Given the description of an element on the screen output the (x, y) to click on. 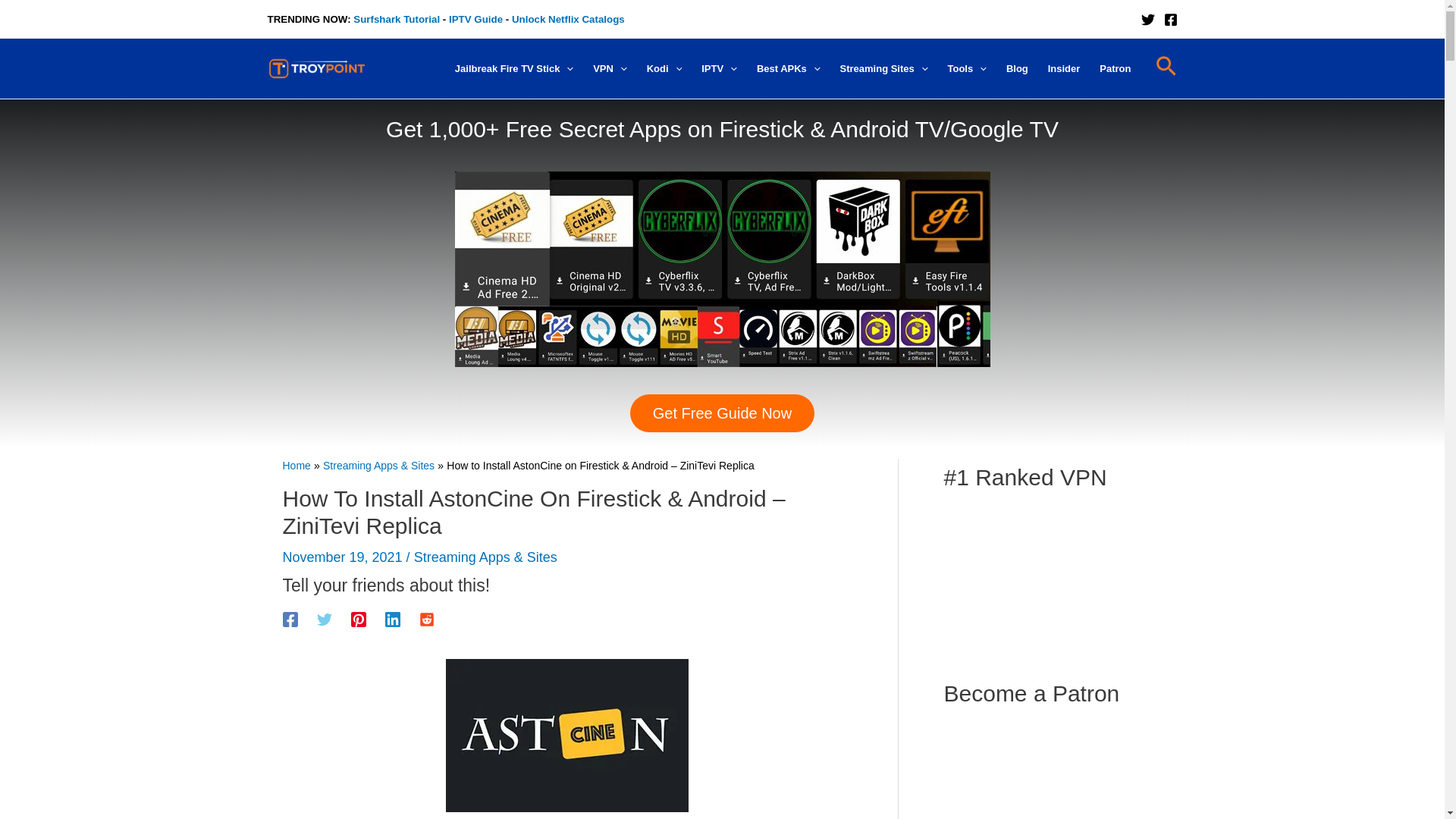
Kodi (665, 68)
IPTV (718, 68)
Best APKs (787, 68)
Jailbreak Fire TV Stick (514, 68)
IPTV Guide (475, 19)
Surfshark Tutorial (396, 19)
VPN (609, 68)
Unlock Netflix Catalogs (568, 19)
